Given the description of an element on the screen output the (x, y) to click on. 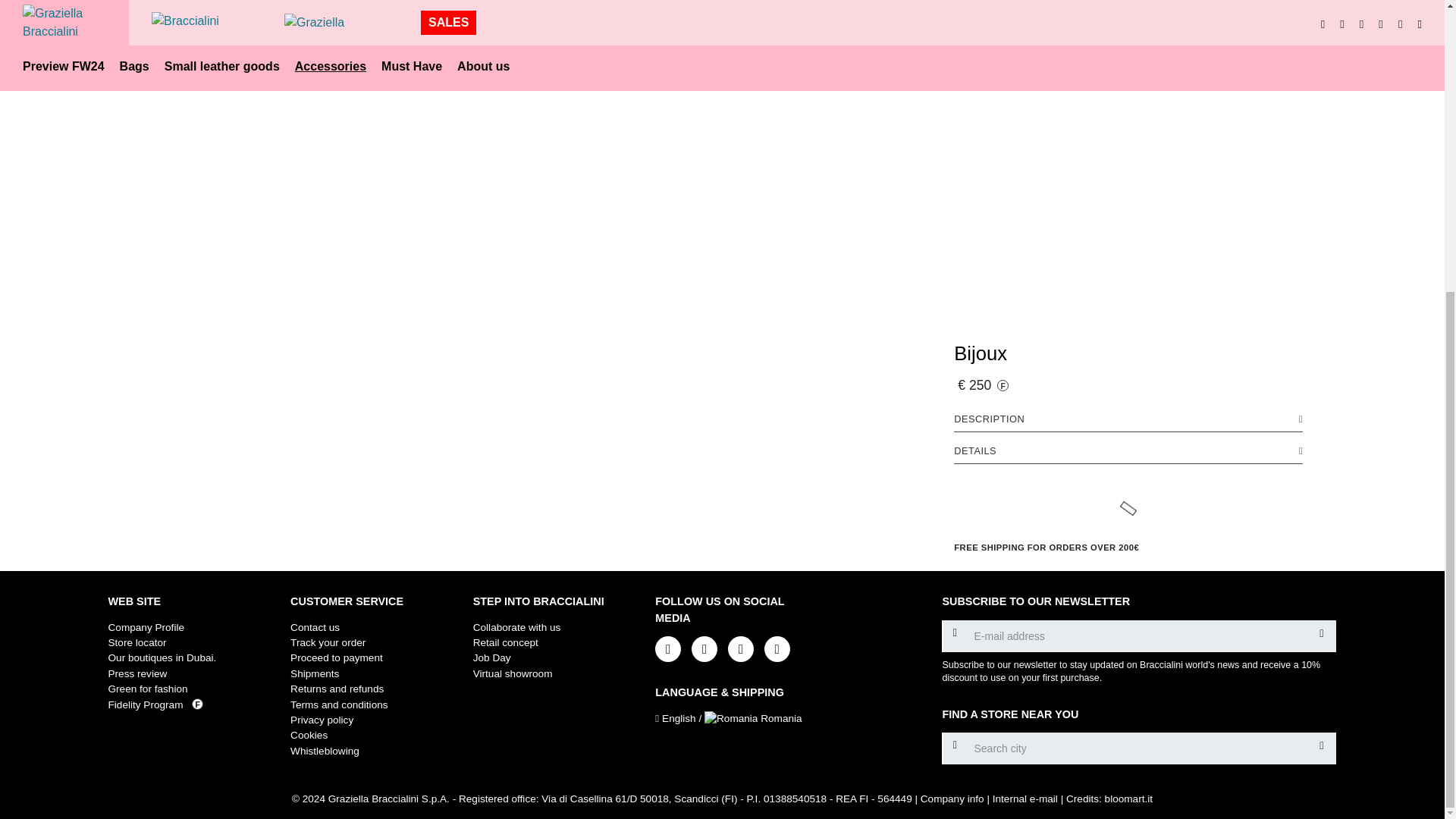
Company Profile (145, 627)
Green for fashion (147, 688)
Press review (137, 673)
Store locator (136, 642)
Our boutiques in Dubai. (161, 657)
